Given the description of an element on the screen output the (x, y) to click on. 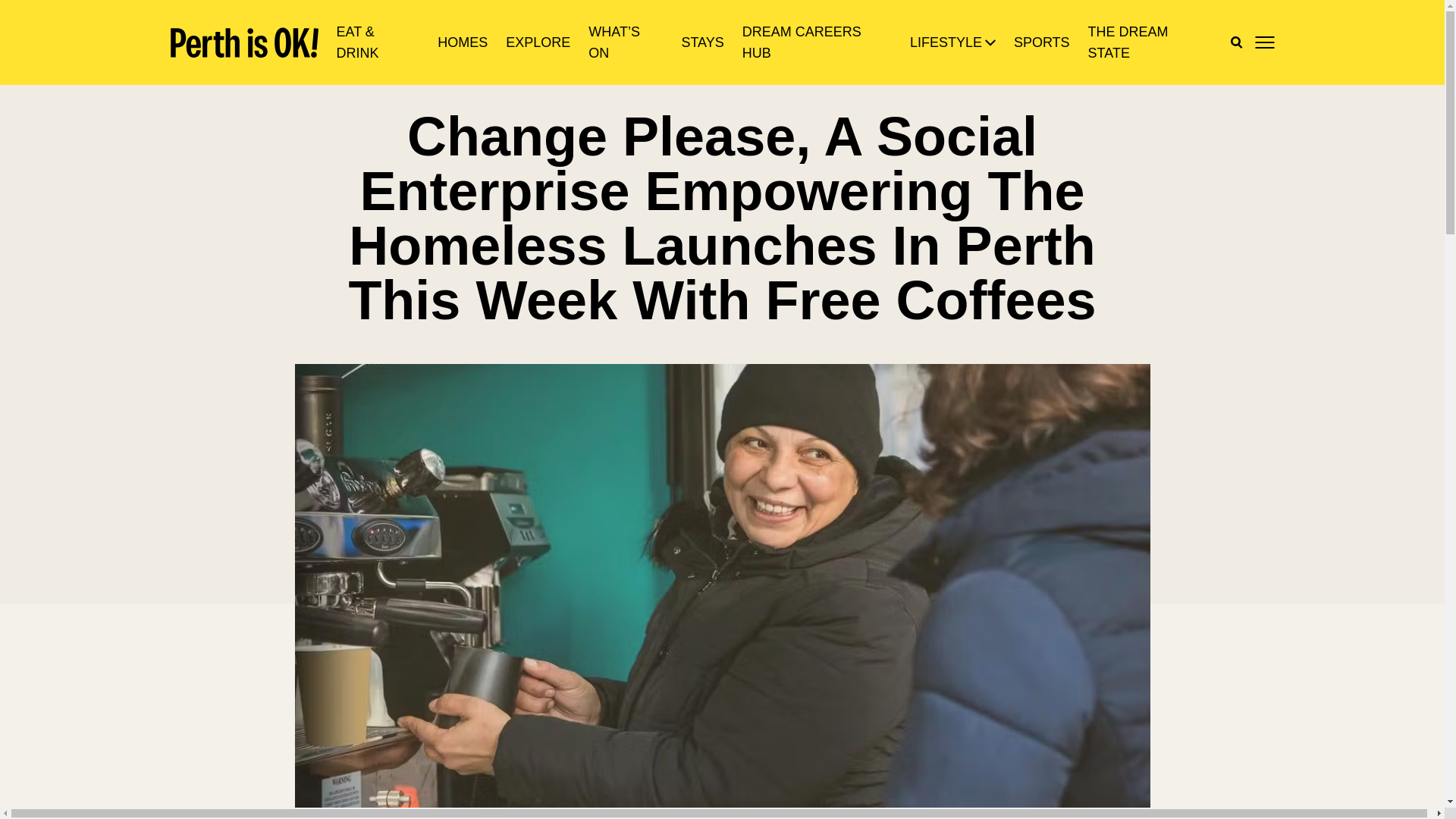
DREAM CAREERS HUB (816, 42)
THE DREAM STATE (1149, 42)
EXPLORE (537, 42)
SPORTS (1041, 42)
STAYS (702, 42)
HOMES (462, 42)
LIFESTYLE (945, 42)
